Given the description of an element on the screen output the (x, y) to click on. 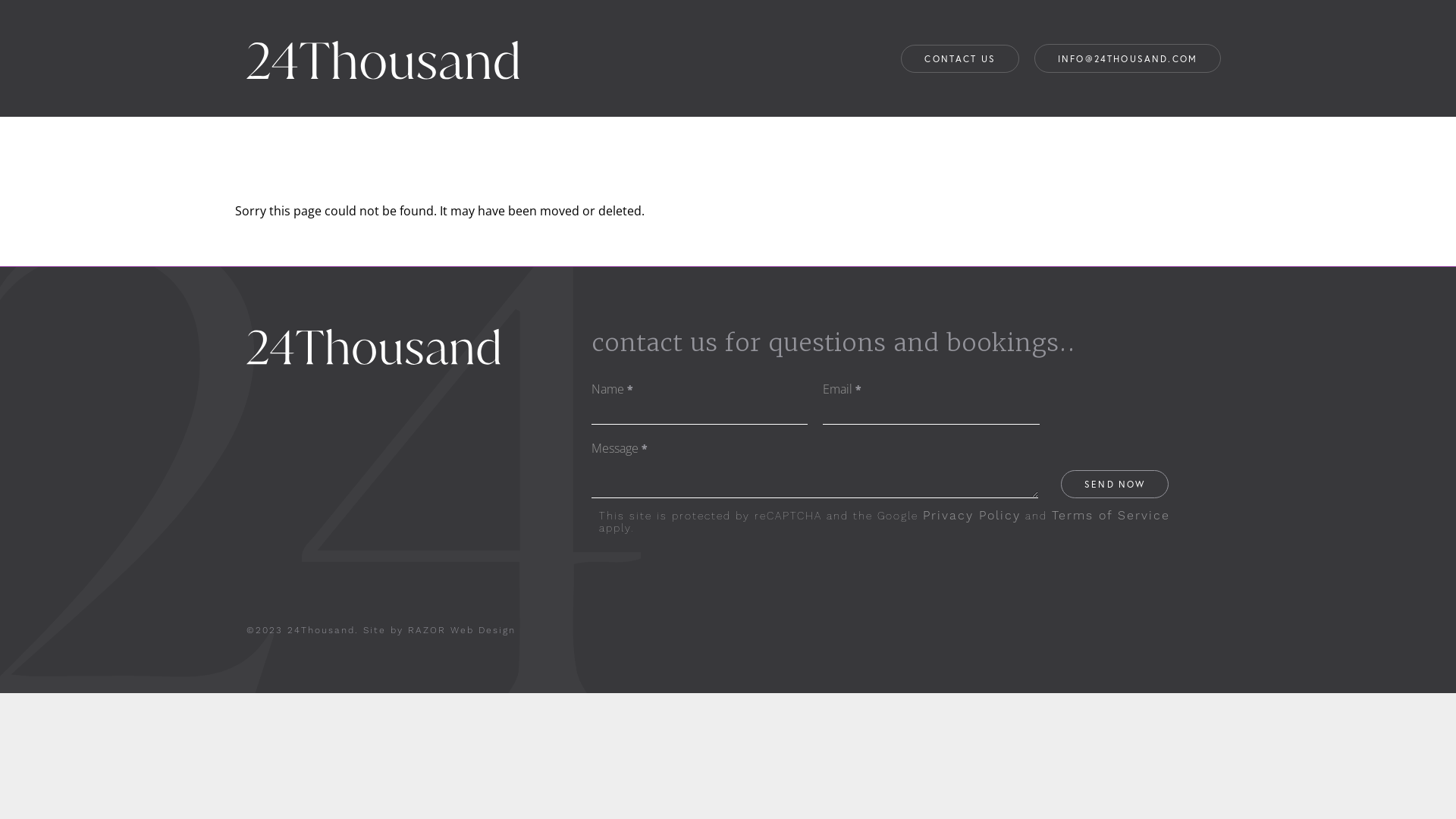
SEND NOW Element type: text (1114, 484)
Site by RAZOR Web Design Element type: text (439, 629)
CONTACT US Element type: text (959, 57)
Terms of Service Element type: text (1110, 515)
Privacy Policy Element type: text (971, 515)
INFO@24THOUSAND.COM Element type: text (1127, 58)
24Thousand Element type: text (382, 27)
